Given the description of an element on the screen output the (x, y) to click on. 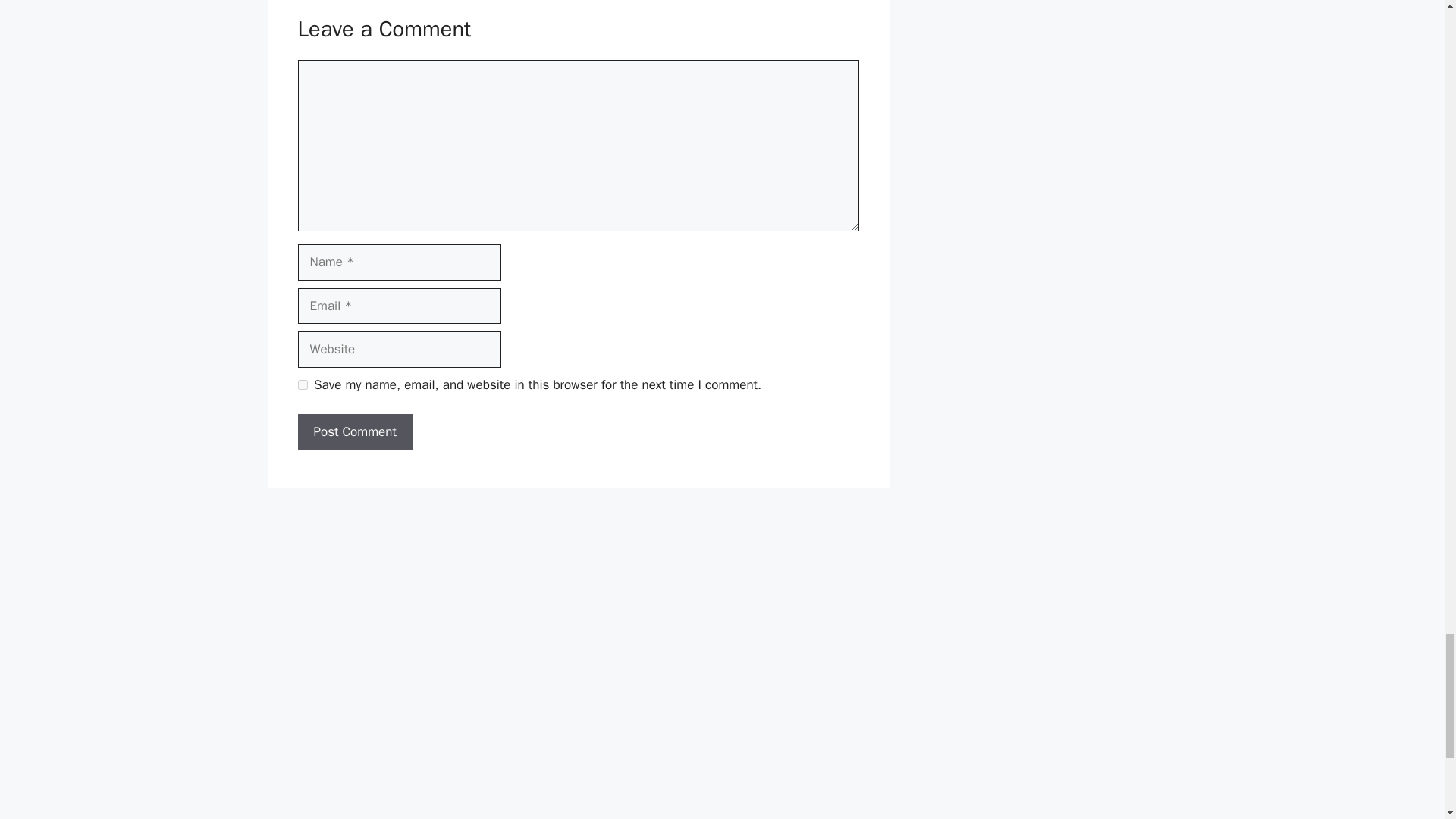
Post Comment (354, 432)
yes (302, 384)
Post Comment (354, 432)
